Given the description of an element on the screen output the (x, y) to click on. 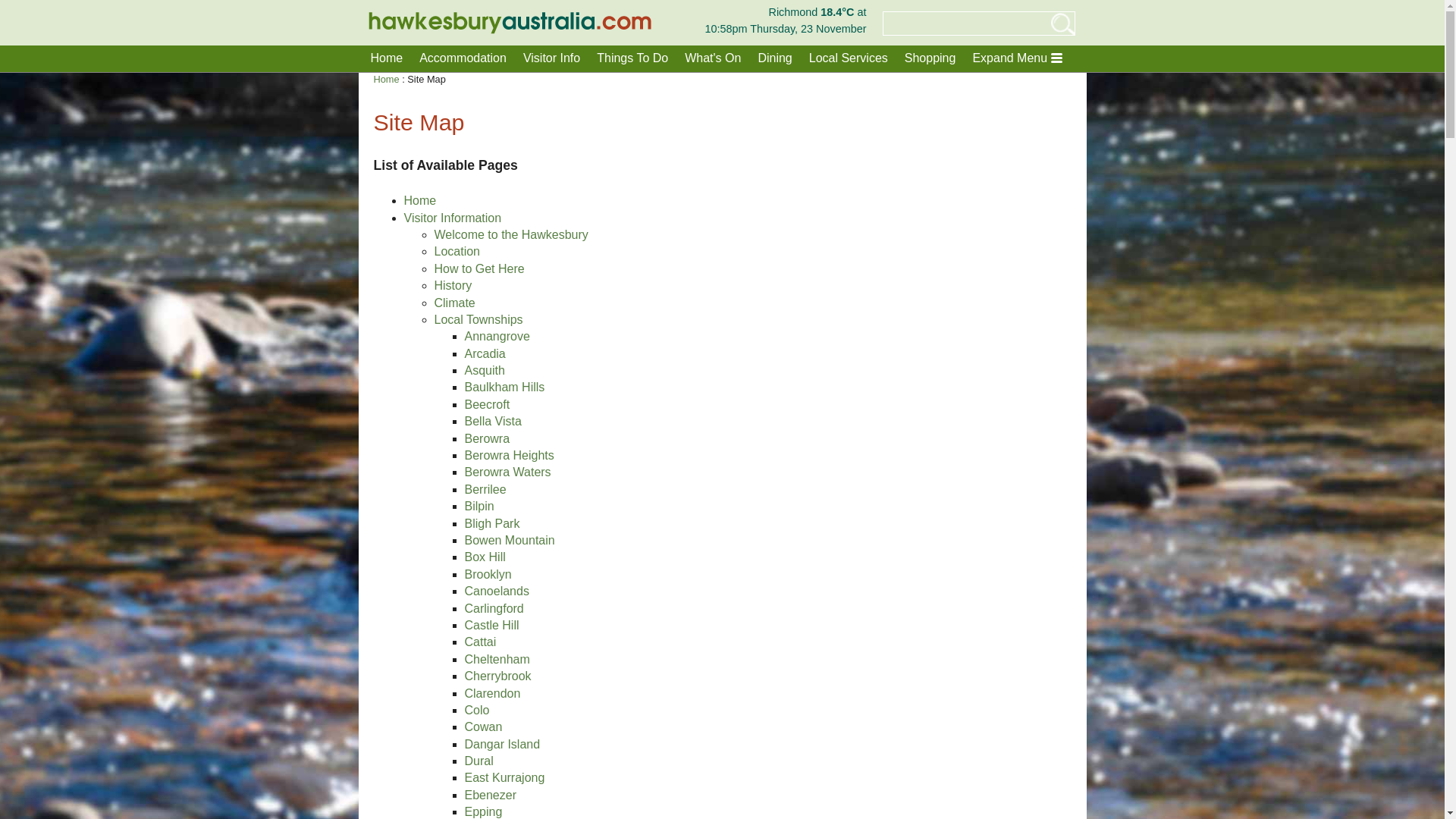
Berowra Heights Element type: text (508, 454)
Castle Hill Element type: text (491, 624)
How to Get Here Element type: text (478, 268)
Clarendon Element type: text (492, 693)
Things To Do Element type: text (632, 58)
Accommodation Element type: text (462, 58)
Local Services Element type: text (848, 58)
Local Townships Element type: text (477, 319)
Climate Element type: text (453, 302)
Cheltenham Element type: text (496, 658)
Bilpin Element type: text (478, 505)
Box Hill Element type: text (484, 556)
Berowra Waters Element type: text (507, 471)
Baulkham Hills Element type: text (504, 386)
Cattai Element type: text (479, 641)
Berowra Element type: text (486, 438)
Bowen Mountain Element type: text (509, 539)
Brooklyn Element type: text (487, 573)
Canoelands Element type: text (496, 590)
Carlingford Element type: text (493, 608)
Cherrybrook Element type: text (497, 675)
East Kurrajong Element type: text (504, 777)
Home Element type: text (385, 78)
Home Element type: text (419, 200)
Dining Element type: text (774, 58)
Shopping Element type: text (930, 58)
Annangrove Element type: text (496, 335)
Ebenezer Element type: text (490, 794)
Beecroft Element type: text (486, 404)
Dangar Island Element type: text (501, 743)
Bella Vista Element type: text (492, 420)
Welcome to the Hawkesbury Element type: text (510, 234)
Arcadia Element type: text (484, 353)
What's On Element type: text (712, 58)
History Element type: text (452, 285)
Location Element type: text (456, 250)
Home Element type: text (386, 58)
Colo Element type: text (476, 709)
Epping Element type: text (483, 811)
Bligh Park Element type: text (491, 523)
Visitor Info Element type: text (551, 58)
Berrilee Element type: text (484, 489)
Asquith Element type: text (484, 370)
Dural Element type: text (478, 760)
Visitor Information Element type: text (452, 217)
Search Element type: text (1051, 23)
Cowan Element type: text (483, 726)
